Given the description of an element on the screen output the (x, y) to click on. 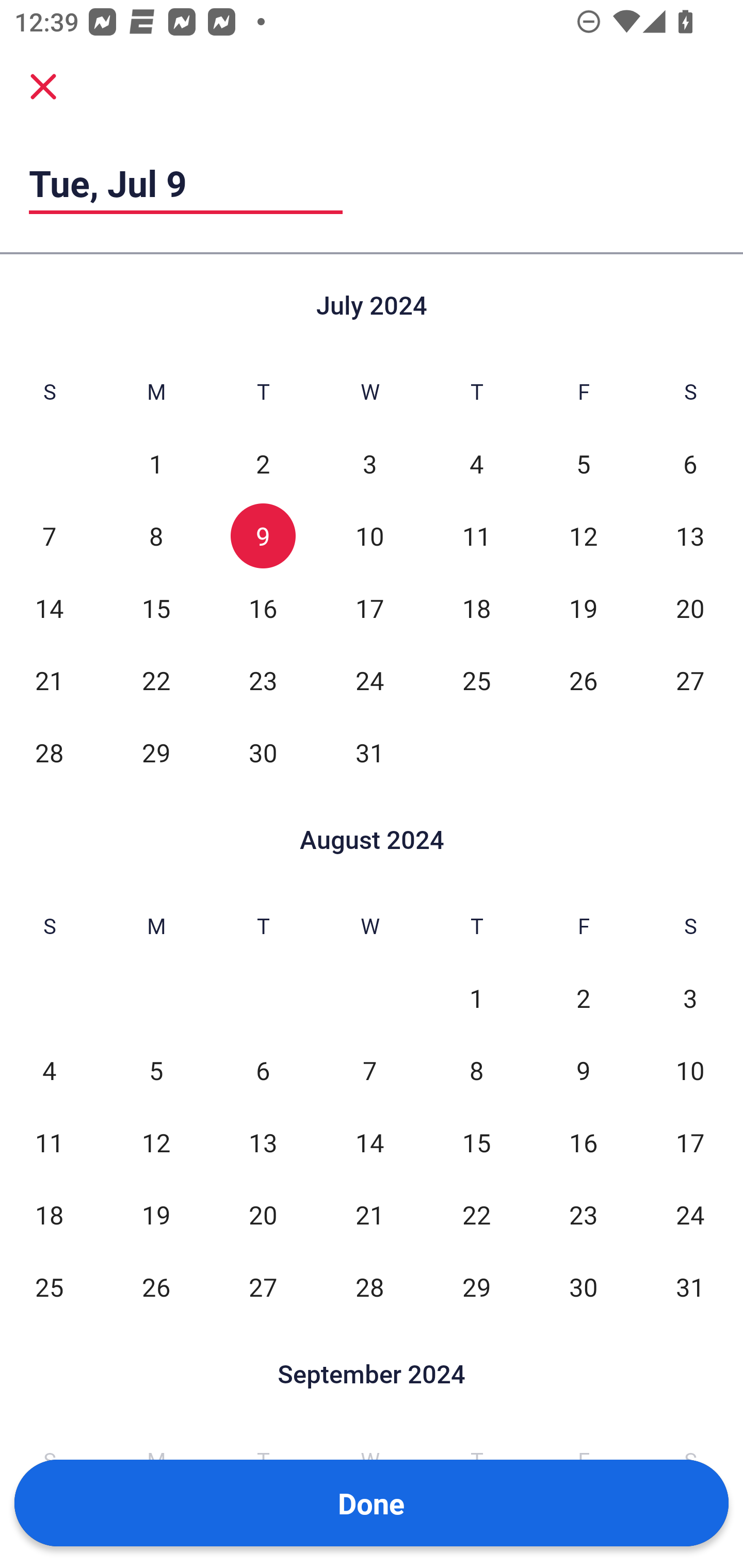
Cancel (43, 86)
Tue, Jul 9 (185, 182)
1 Mon, Jul 1, Not Selected (156, 464)
2 Tue, Jul 2, Not Selected (263, 464)
3 Wed, Jul 3, Not Selected (369, 464)
4 Thu, Jul 4, Not Selected (476, 464)
5 Fri, Jul 5, Not Selected (583, 464)
6 Sat, Jul 6, Not Selected (690, 464)
7 Sun, Jul 7, Not Selected (49, 536)
8 Mon, Jul 8, Not Selected (156, 536)
9 Tue, Jul 9, Selected (263, 536)
10 Wed, Jul 10, Not Selected (369, 536)
11 Thu, Jul 11, Not Selected (476, 536)
12 Fri, Jul 12, Not Selected (583, 536)
13 Sat, Jul 13, Not Selected (690, 536)
14 Sun, Jul 14, Not Selected (49, 608)
15 Mon, Jul 15, Not Selected (156, 608)
16 Tue, Jul 16, Not Selected (263, 608)
17 Wed, Jul 17, Not Selected (369, 608)
18 Thu, Jul 18, Not Selected (476, 608)
19 Fri, Jul 19, Not Selected (583, 608)
20 Sat, Jul 20, Not Selected (690, 608)
21 Sun, Jul 21, Not Selected (49, 680)
22 Mon, Jul 22, Not Selected (156, 680)
23 Tue, Jul 23, Not Selected (263, 680)
24 Wed, Jul 24, Not Selected (369, 680)
25 Thu, Jul 25, Not Selected (476, 680)
26 Fri, Jul 26, Not Selected (583, 680)
27 Sat, Jul 27, Not Selected (690, 680)
28 Sun, Jul 28, Not Selected (49, 752)
29 Mon, Jul 29, Not Selected (156, 752)
30 Tue, Jul 30, Not Selected (263, 752)
31 Wed, Jul 31, Not Selected (369, 752)
1 Thu, Aug 1, Not Selected (476, 997)
2 Fri, Aug 2, Not Selected (583, 997)
3 Sat, Aug 3, Not Selected (690, 997)
4 Sun, Aug 4, Not Selected (49, 1070)
5 Mon, Aug 5, Not Selected (156, 1070)
6 Tue, Aug 6, Not Selected (263, 1070)
7 Wed, Aug 7, Not Selected (369, 1070)
8 Thu, Aug 8, Not Selected (476, 1070)
9 Fri, Aug 9, Not Selected (583, 1070)
10 Sat, Aug 10, Not Selected (690, 1070)
11 Sun, Aug 11, Not Selected (49, 1143)
12 Mon, Aug 12, Not Selected (156, 1143)
13 Tue, Aug 13, Not Selected (263, 1143)
14 Wed, Aug 14, Not Selected (369, 1143)
15 Thu, Aug 15, Not Selected (476, 1143)
16 Fri, Aug 16, Not Selected (583, 1143)
17 Sat, Aug 17, Not Selected (690, 1143)
